Given the description of an element on the screen output the (x, y) to click on. 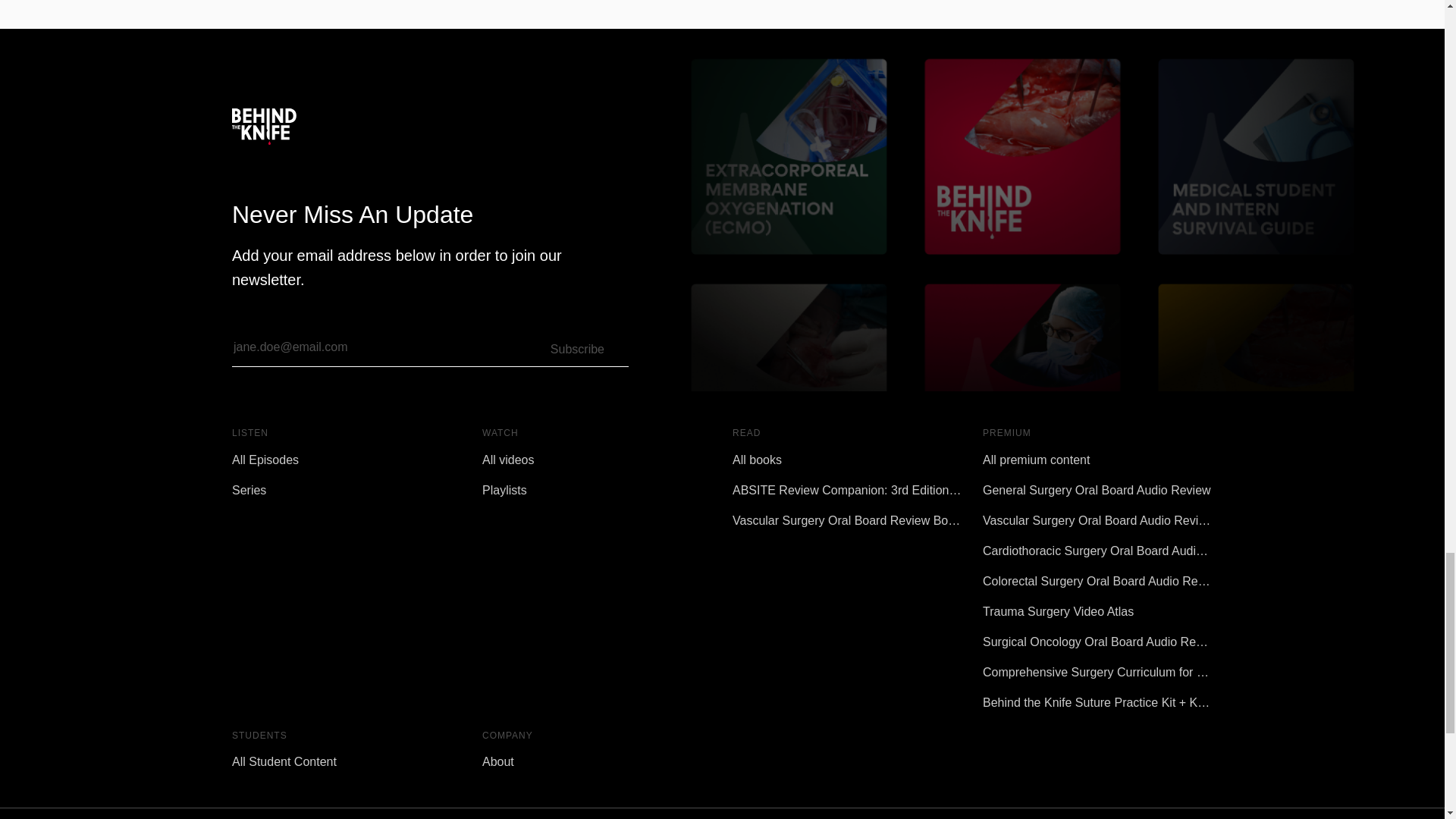
BTK logo (264, 126)
